Given the description of an element on the screen output the (x, y) to click on. 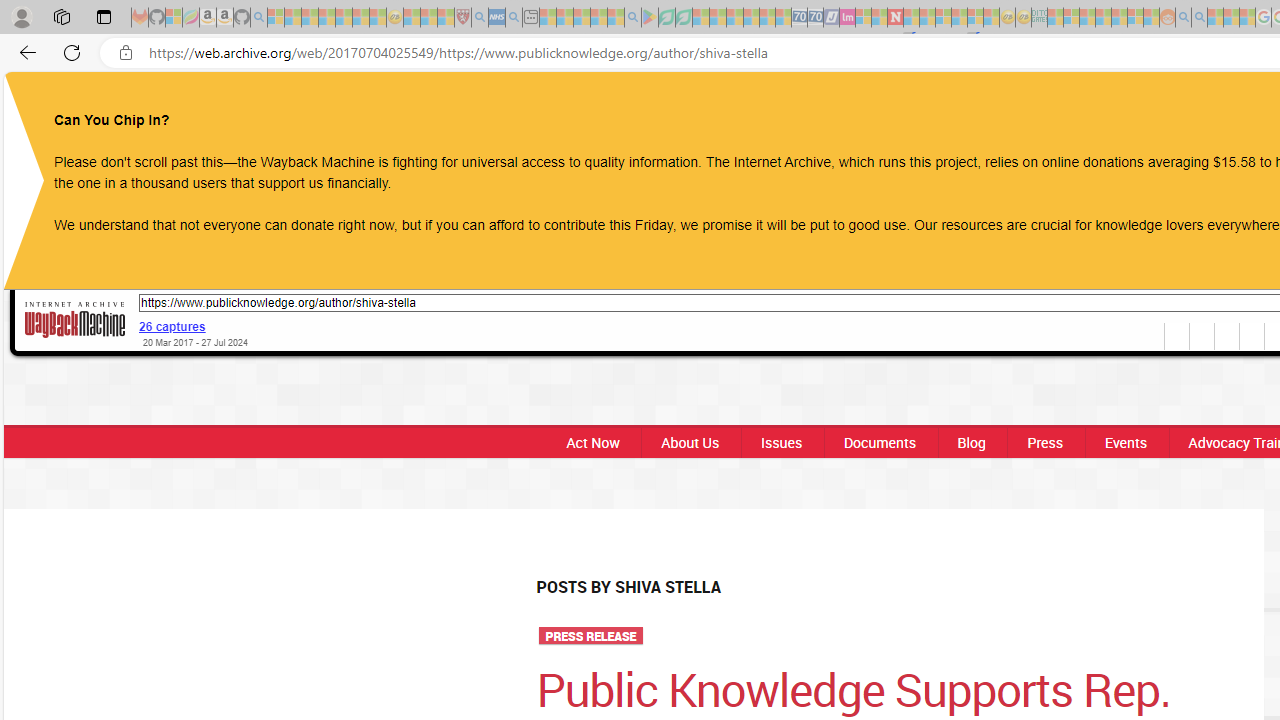
Documents (879, 442)
Act Now (592, 442)
Issues (780, 442)
